Given the description of an element on the screen output the (x, y) to click on. 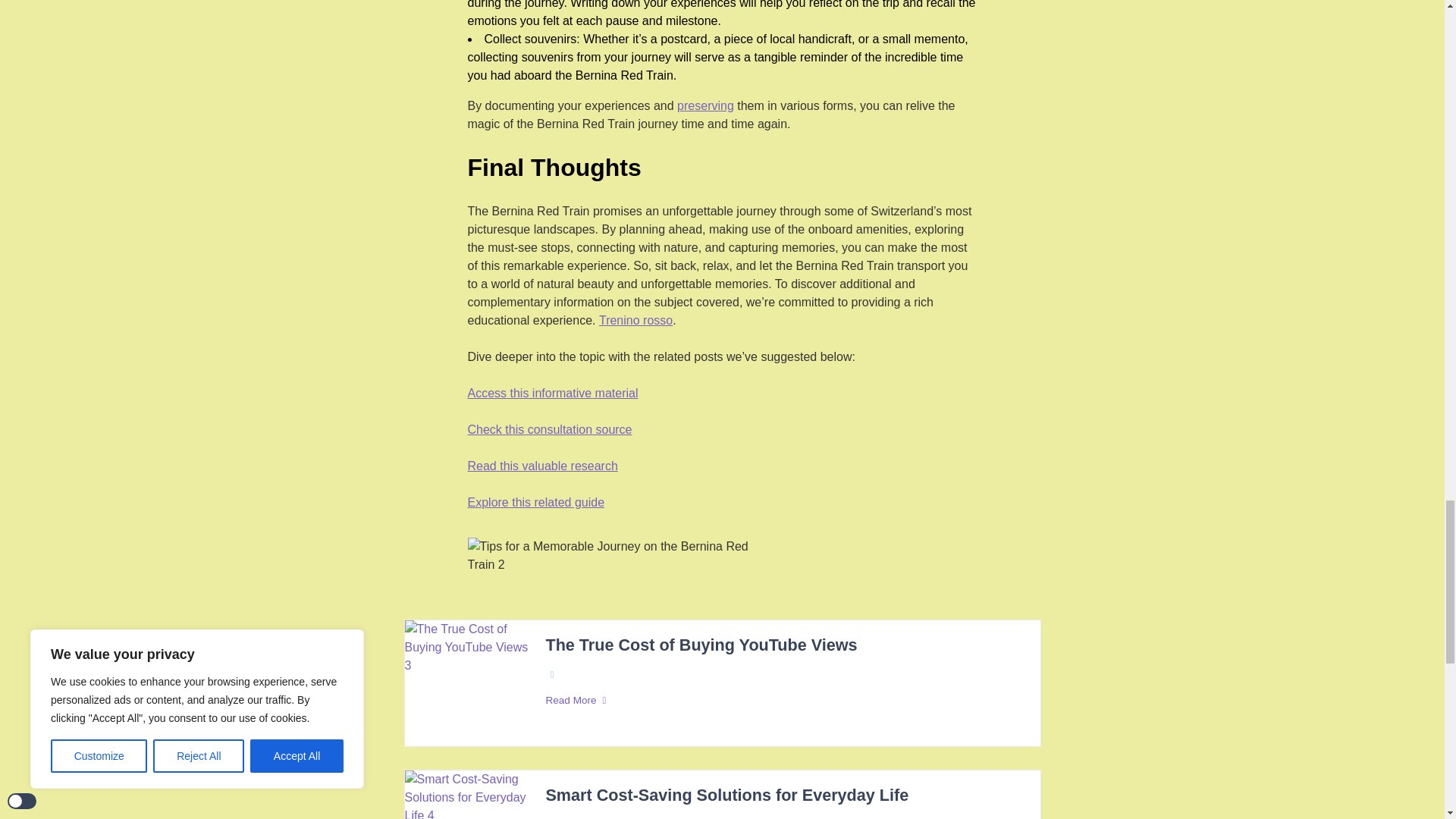
Smart Cost-Saving Solutions for Everyday Life (726, 795)
Explore this related guide (535, 502)
preserving (705, 106)
Trenino rosso (635, 321)
Access this informative material (552, 393)
Check this consultation source (549, 429)
The True Cost of Buying YouTube Views (700, 645)
Read More (784, 700)
Read this valuable research (542, 466)
